Given the description of an element on the screen output the (x, y) to click on. 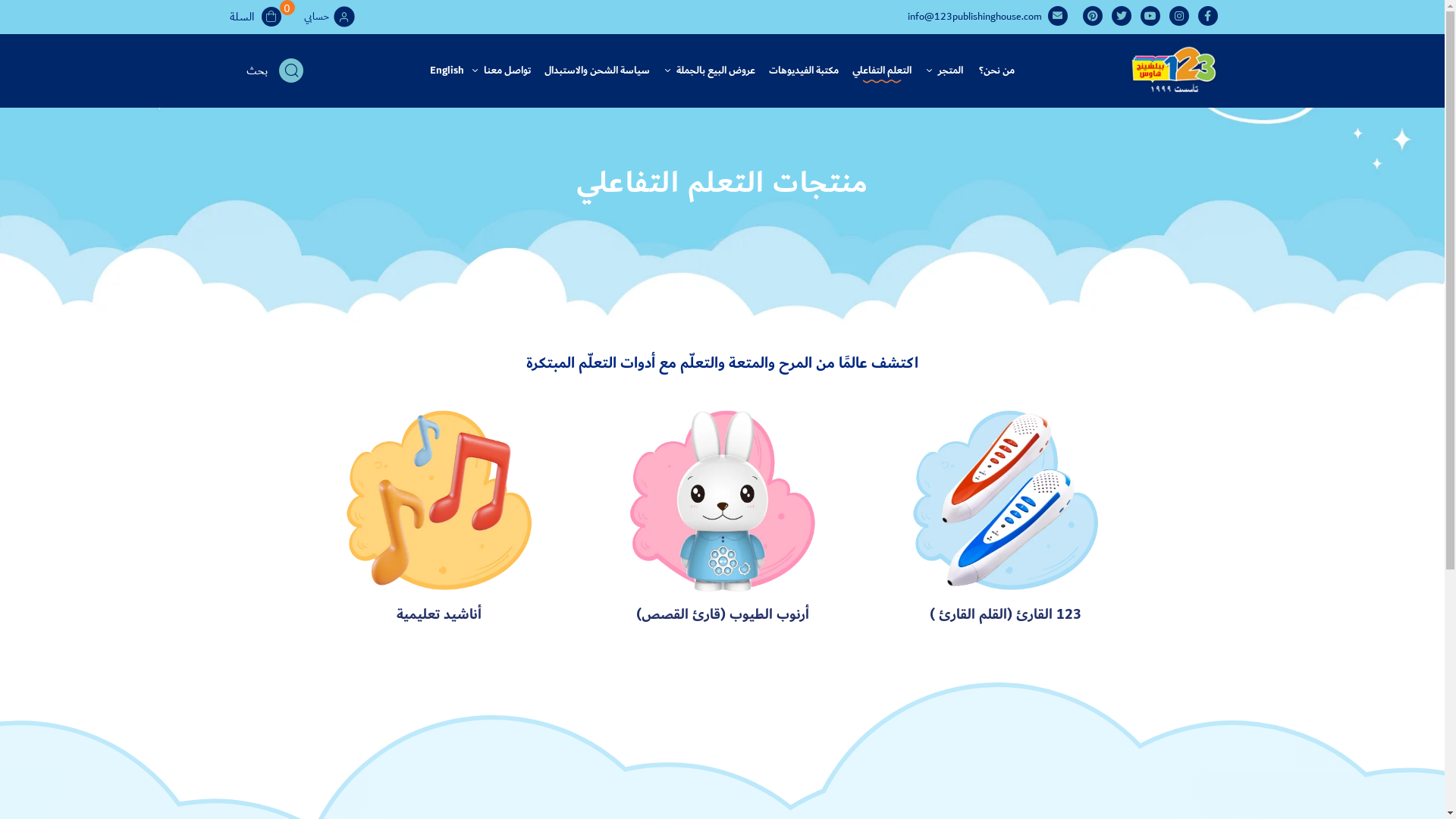
info@123publishinghouse.com Element type: text (973, 16)
0 Element type: text (275, 17)
English Element type: text (446, 70)
